Given the description of an element on the screen output the (x, y) to click on. 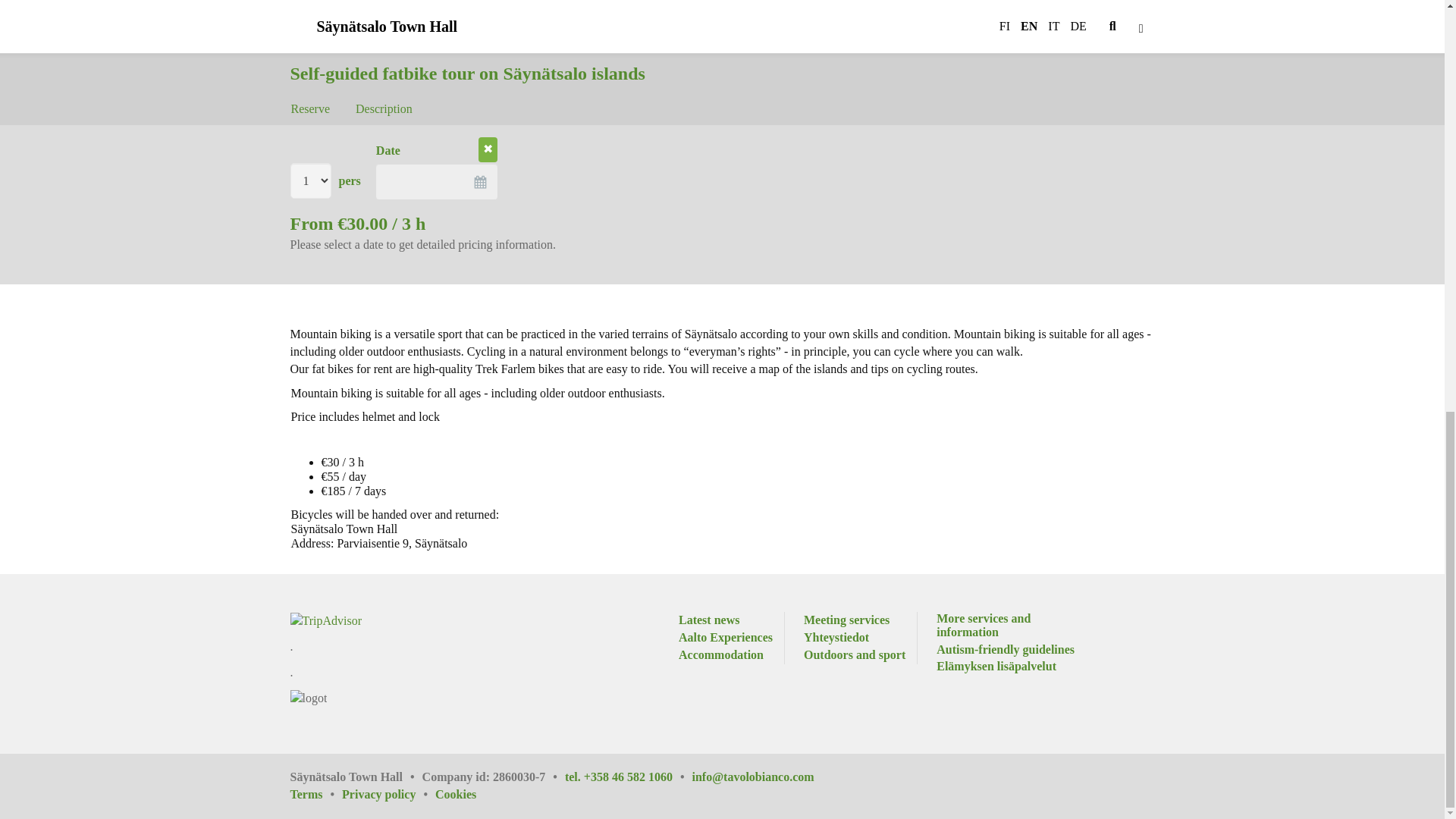
Overnight reservation (509, 110)
Privacy policy (388, 794)
Accommodation (720, 655)
Yhteystiedot (836, 638)
Reserve (310, 69)
Meeting services (846, 620)
Short reservation (351, 110)
Cookies (455, 794)
Terms (315, 794)
More services and information (1008, 625)
Description (384, 69)
Aalto Experiences (725, 638)
Outdoors and sport (854, 655)
Latest news (708, 620)
Autism-friendly guidelines (1005, 650)
